Given the description of an element on the screen output the (x, y) to click on. 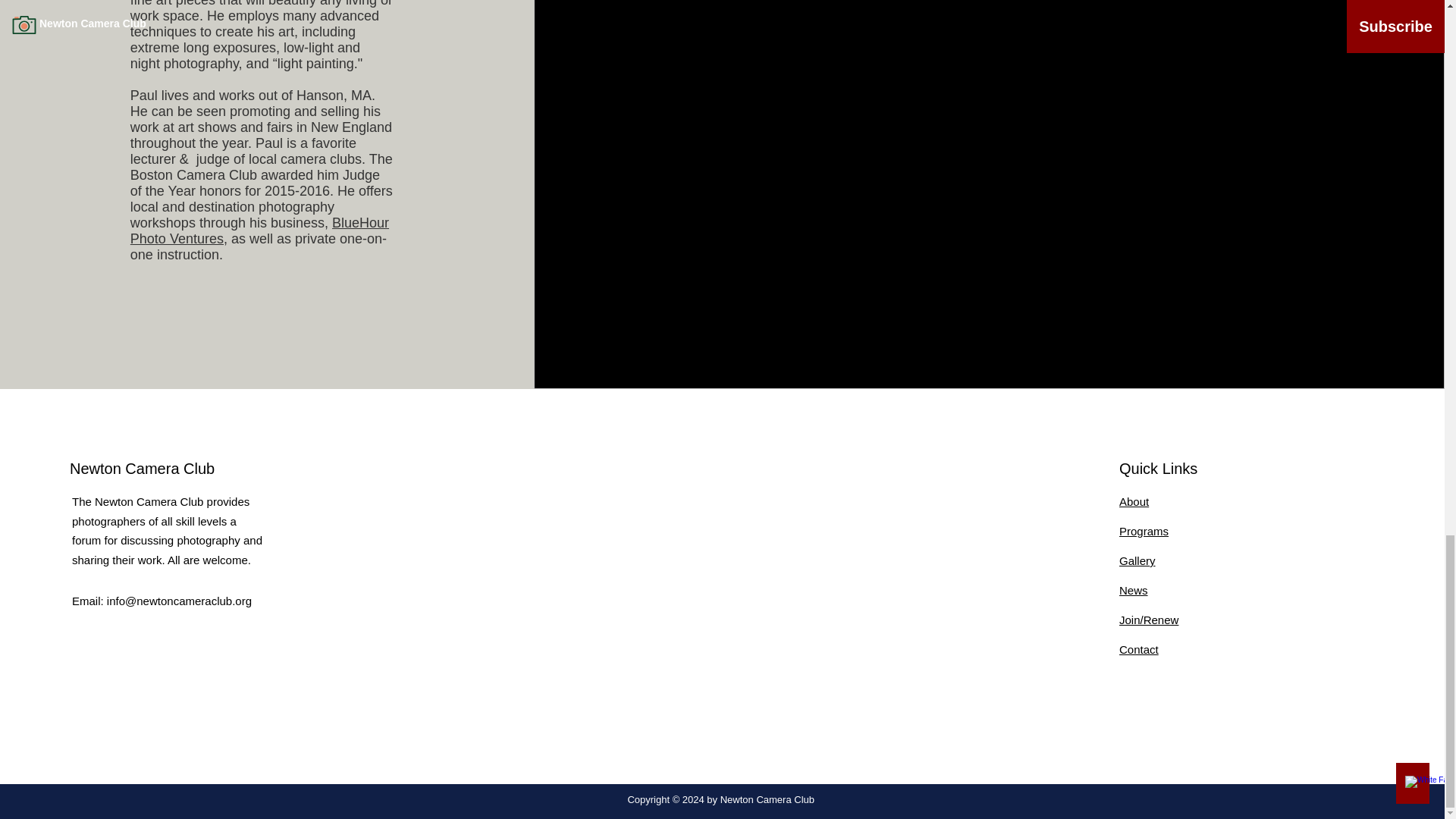
About (1133, 501)
BlueHour Photo Ventures (259, 230)
Programs (1144, 530)
